Given the description of an element on the screen output the (x, y) to click on. 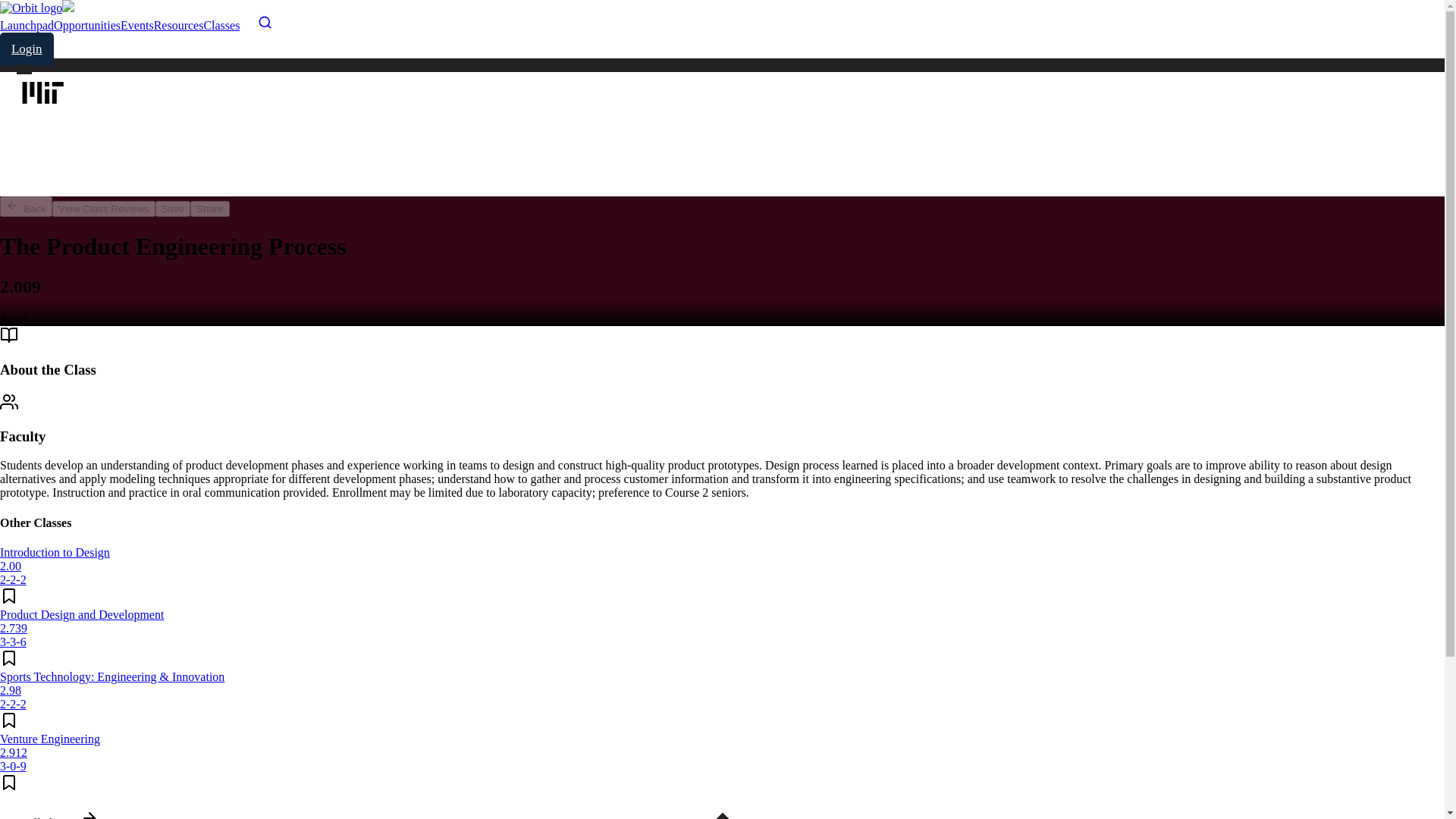
Share (210, 208)
Back (26, 206)
Opportunities (86, 24)
Classes (221, 24)
View Class Reviews (103, 207)
Save (172, 208)
Events (137, 24)
View Class Reviews (103, 208)
View all classes (49, 817)
Launchpad (26, 24)
Login (26, 49)
Resources (178, 24)
